Given the description of an element on the screen output the (x, y) to click on. 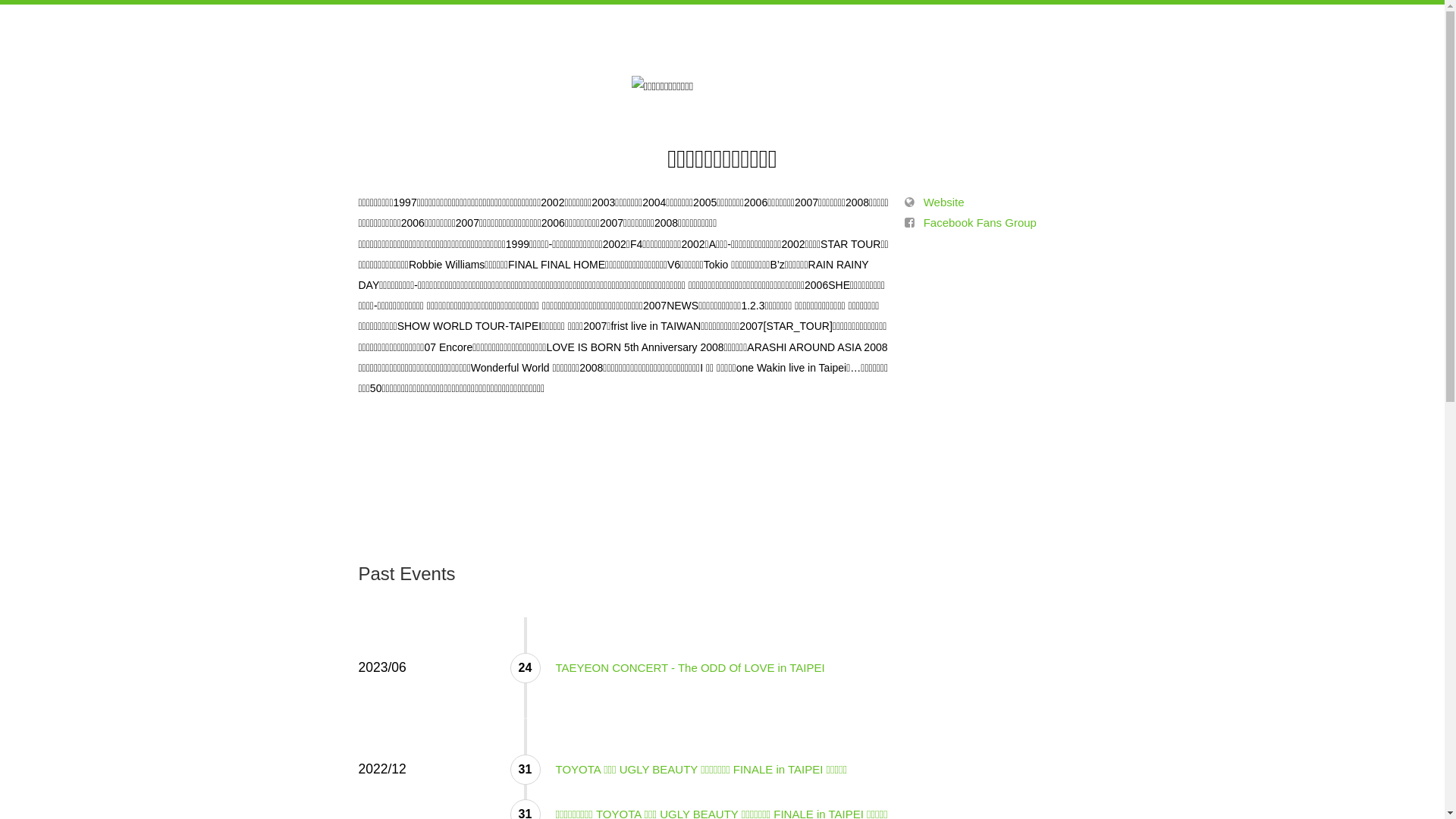
TAEYEON CONCERT - The ODD Of LOVE in TAIPEI Element type: text (689, 667)
Facebook Fans Group Element type: text (969, 222)
Website Element type: text (933, 201)
